Given the description of an element on the screen output the (x, y) to click on. 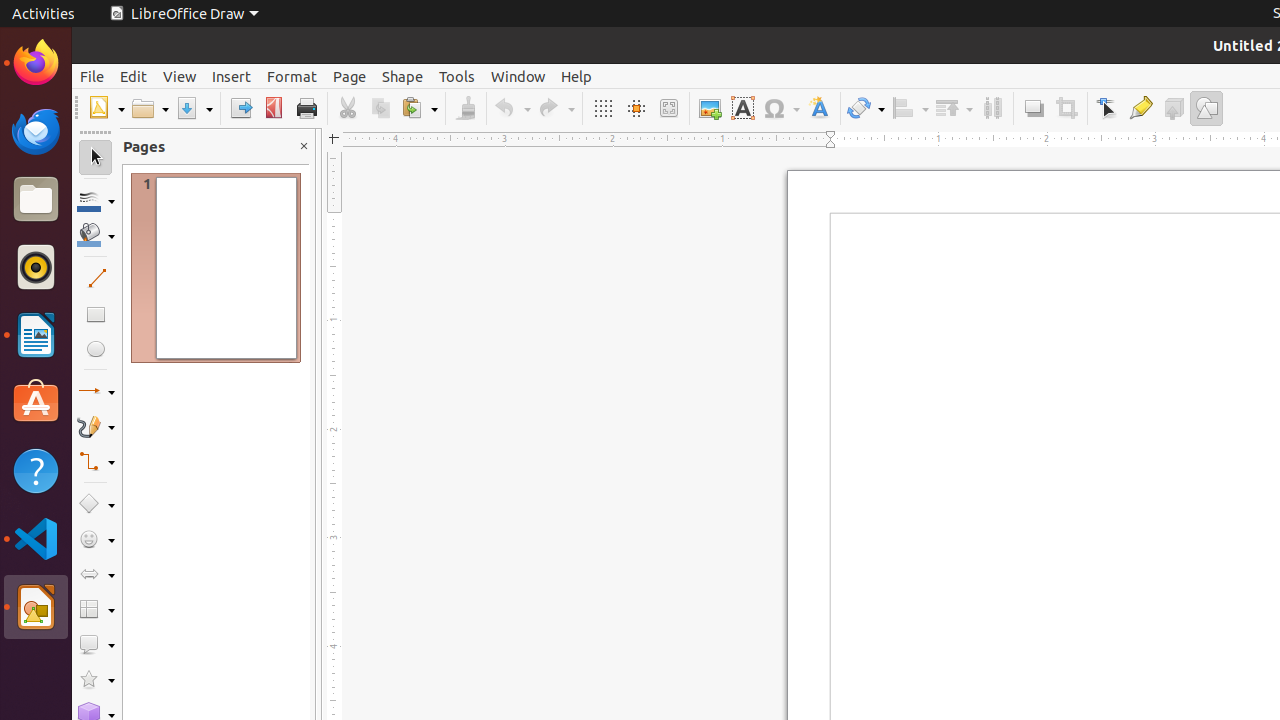
Arrange Element type: push-button (954, 108)
Paste Element type: push-button (419, 108)
LibreOffice Writer Element type: push-button (36, 334)
Crop Element type: push-button (1066, 108)
Copy Element type: push-button (380, 108)
